Given the description of an element on the screen output the (x, y) to click on. 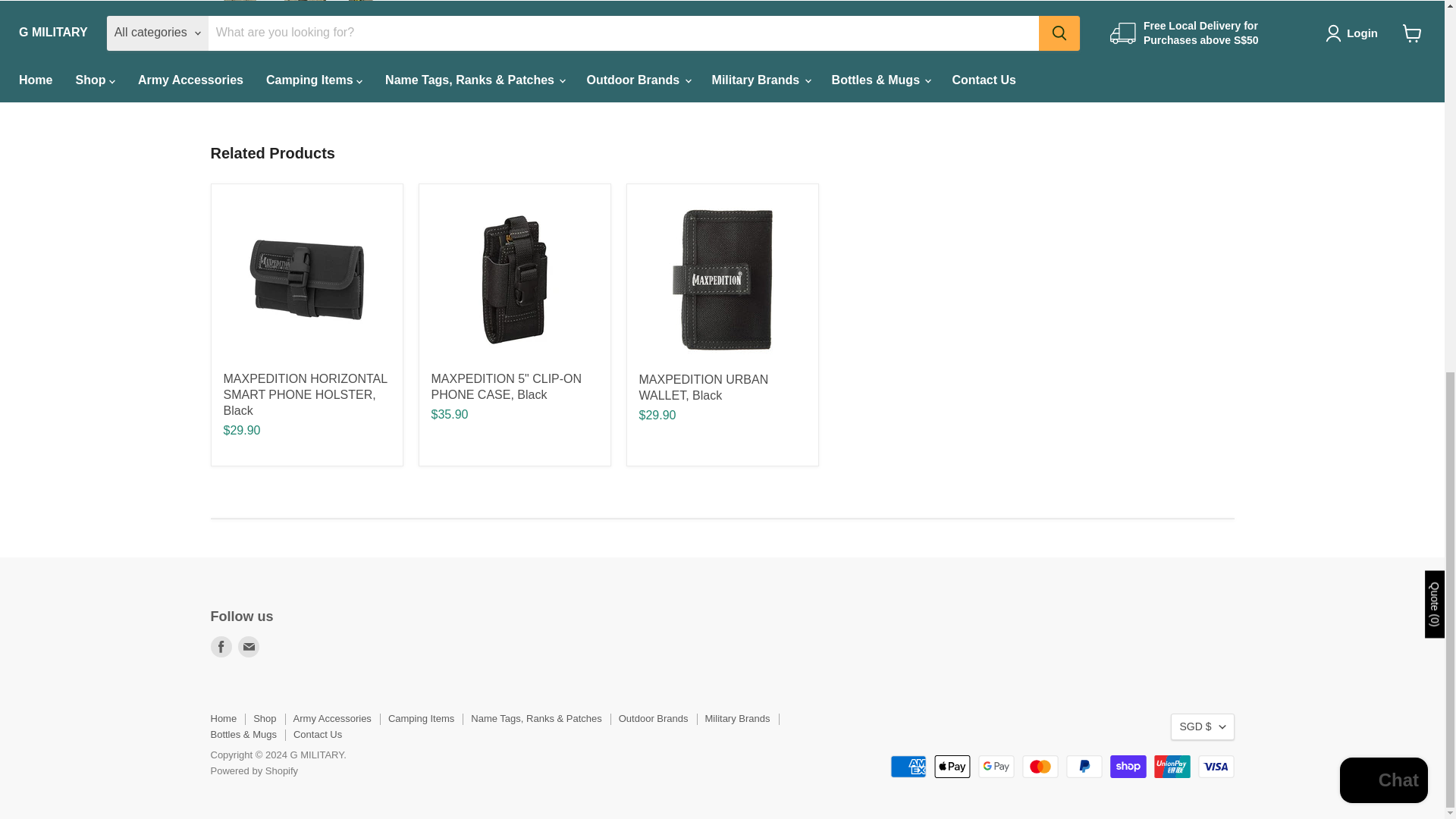
Email (248, 646)
Shopify online store chat (1383, 102)
Facebook (221, 646)
